Given the description of an element on the screen output the (x, y) to click on. 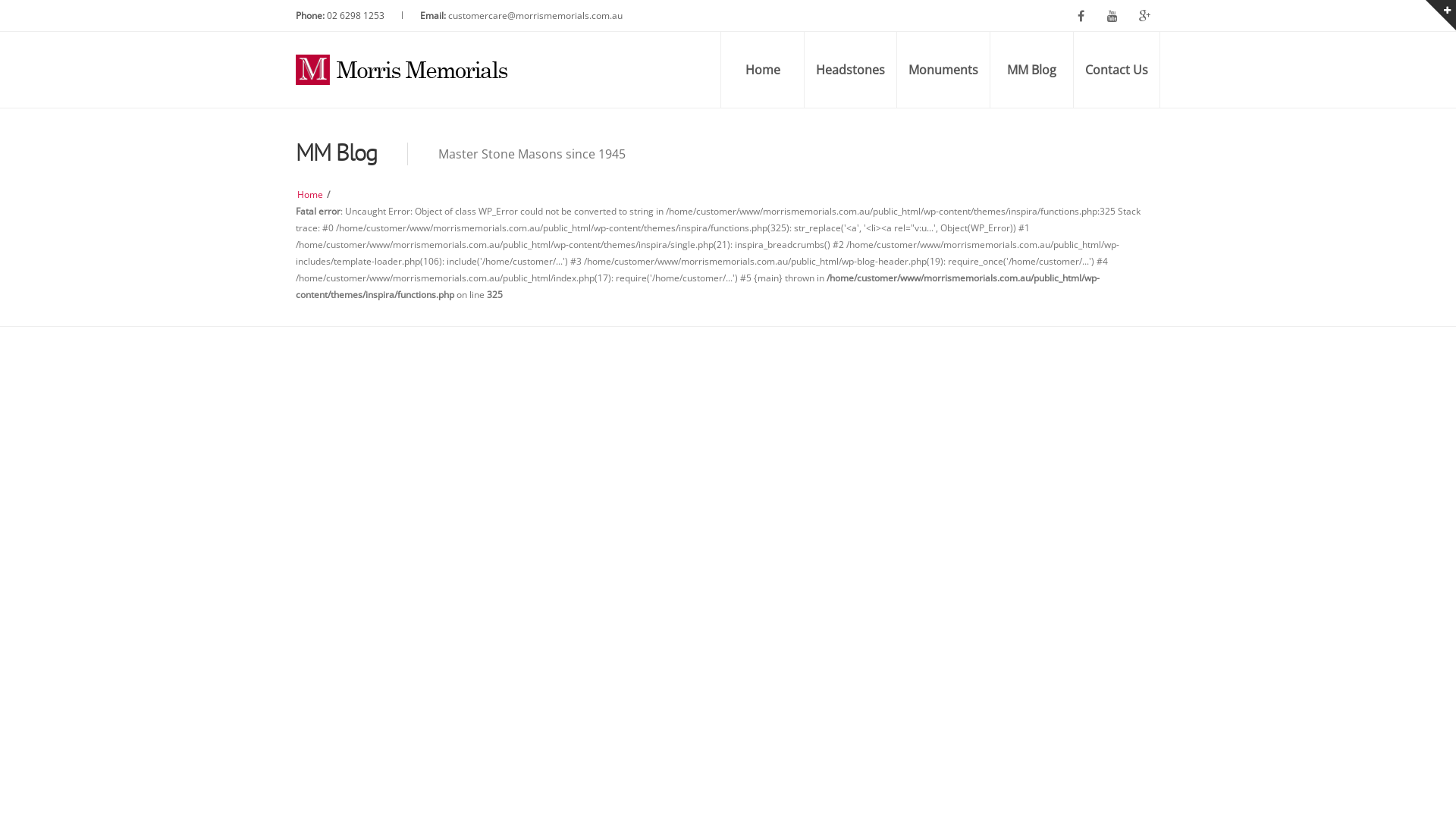
Contact Us Element type: text (1116, 69)
Home Element type: text (310, 194)
customercare@morrismemorials.com.au Element type: text (535, 15)
Headstones Element type: text (849, 69)
Home Element type: text (761, 69)
Monuments Element type: text (942, 69)
MM Blog Element type: text (1031, 69)
